Given the description of an element on the screen output the (x, y) to click on. 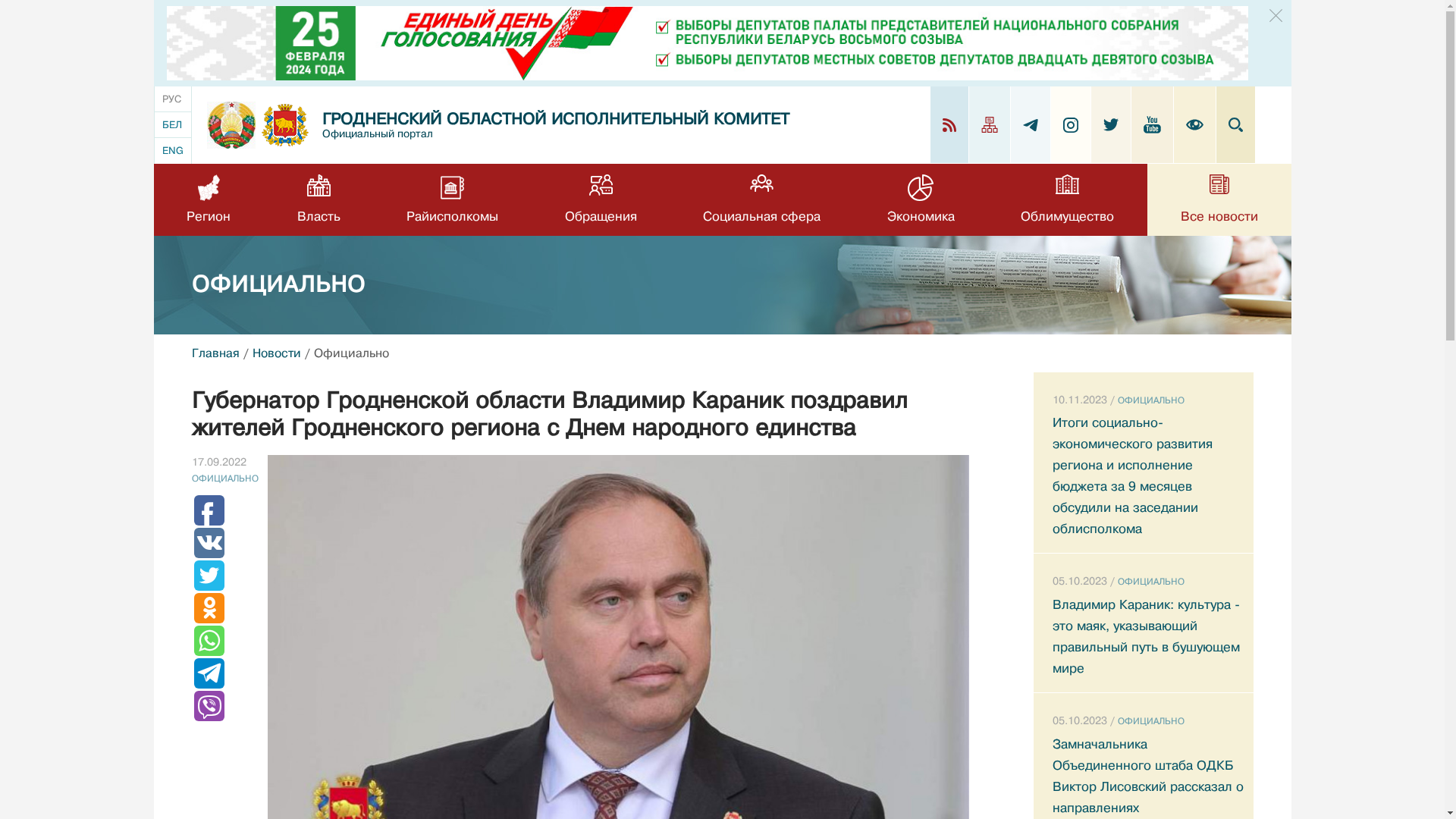
ENG Element type: text (172, 150)
rss Element type: hover (948, 124)
telegram Element type: hover (1029, 125)
twitter Element type: hover (1109, 124)
instagram Element type: hover (1070, 124)
twitter Element type: hover (1110, 124)
instagram Element type: hover (1071, 124)
rss Element type: hover (948, 124)
telegram Element type: hover (1030, 124)
Youtube Element type: hover (1152, 124)
Youtube Element type: hover (1152, 124)
